Given the description of an element on the screen output the (x, y) to click on. 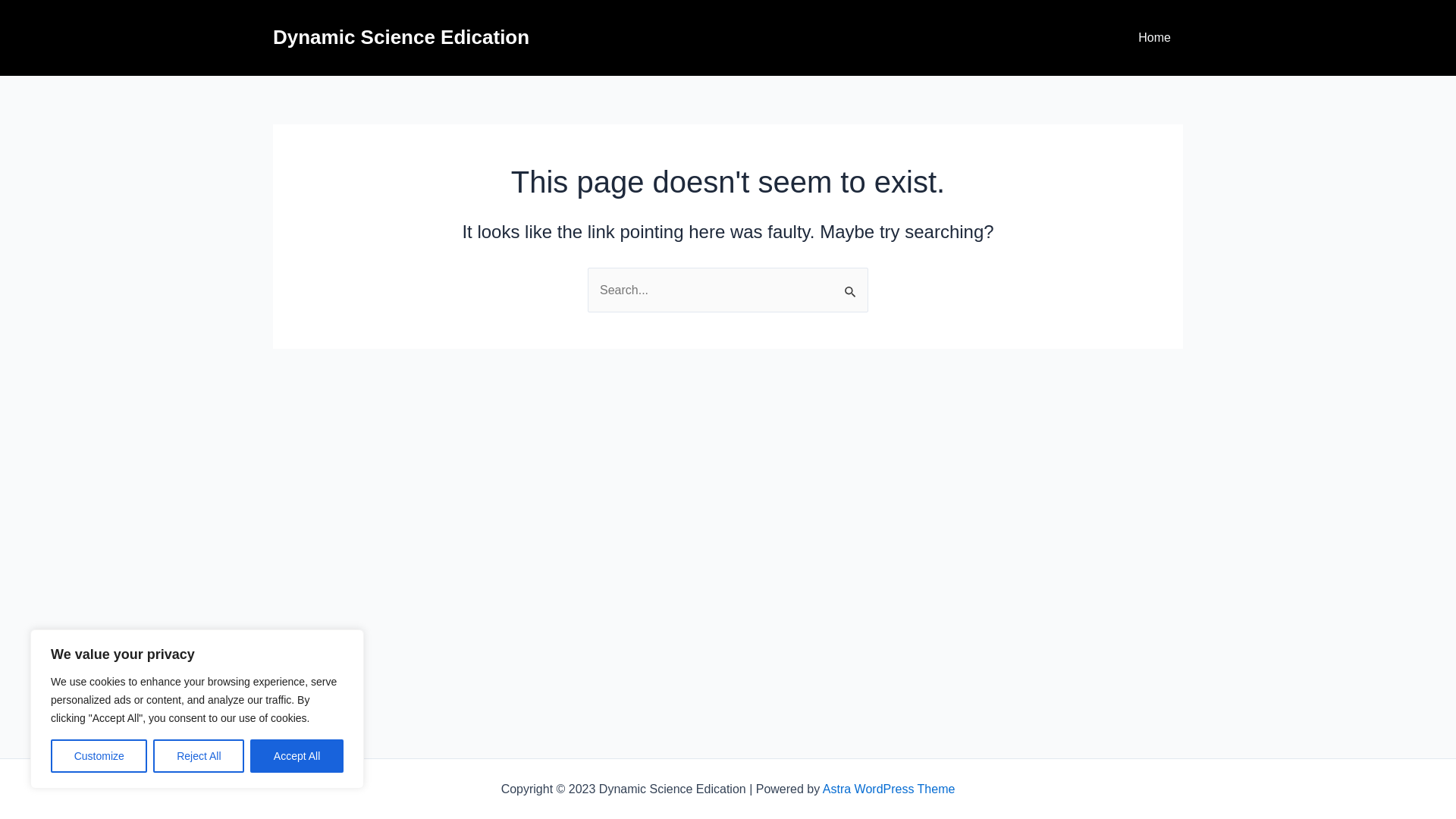
Astra WordPress Theme Element type: text (888, 788)
Search Element type: text (851, 283)
Home Element type: text (1154, 37)
Dynamic Science Edication Element type: text (401, 36)
Accept All Element type: text (296, 755)
Reject All Element type: text (198, 755)
Customize Element type: text (98, 755)
